Given the description of an element on the screen output the (x, y) to click on. 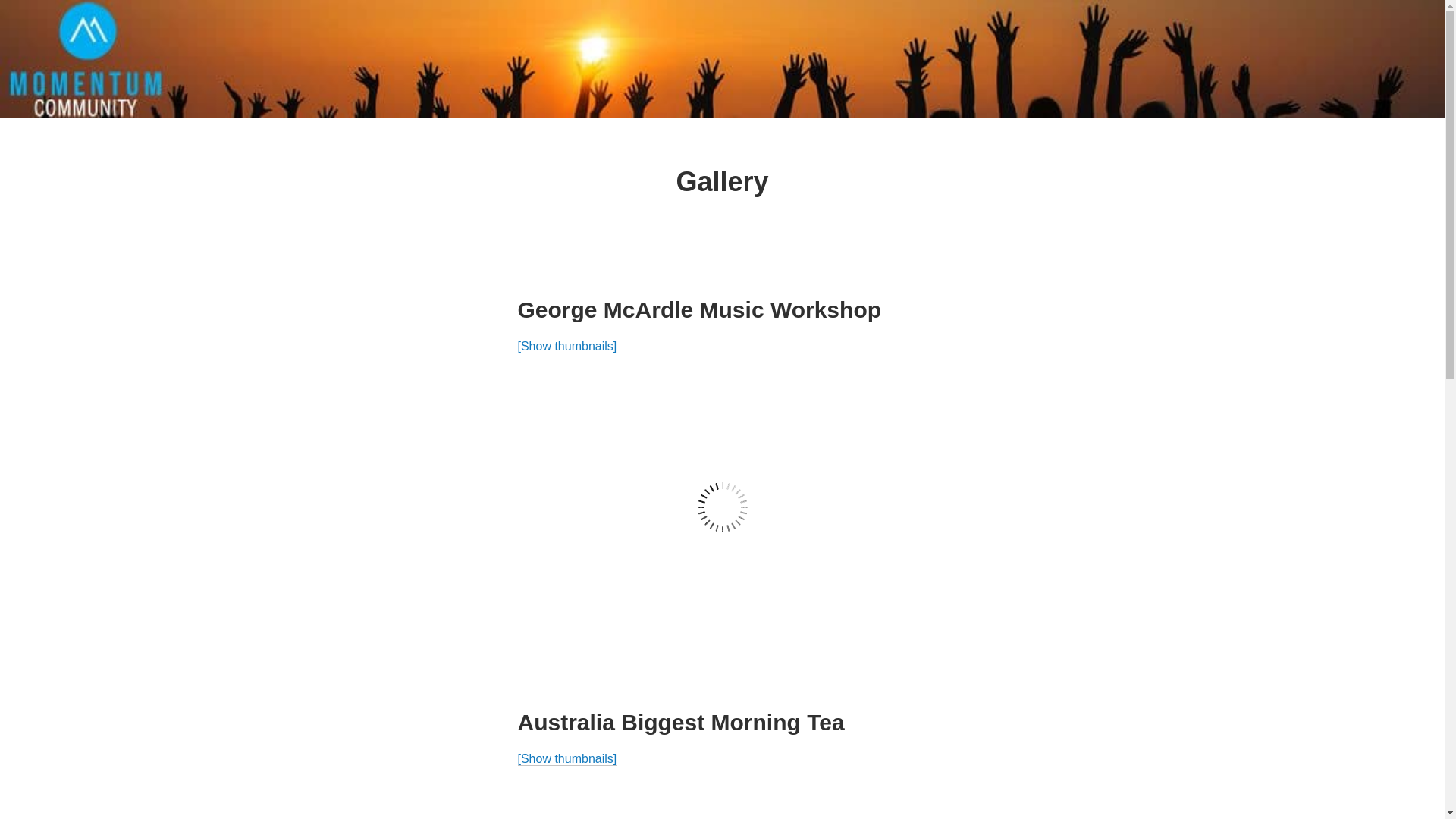
[Show thumbnails] Element type: text (566, 346)
[Show thumbnails] Element type: text (566, 758)
